Given the description of an element on the screen output the (x, y) to click on. 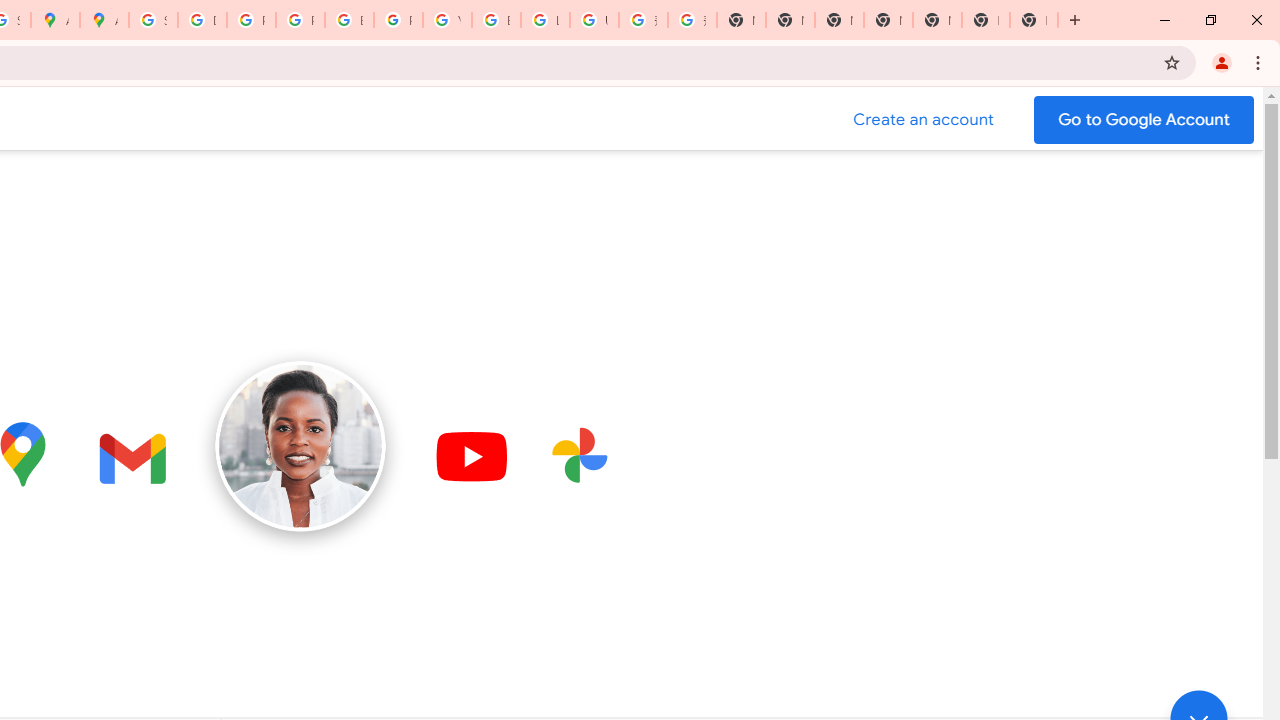
New Tab (1033, 20)
Go to your Google Account (1144, 119)
Privacy Help Center - Policies Help (300, 20)
